Given the description of an element on the screen output the (x, y) to click on. 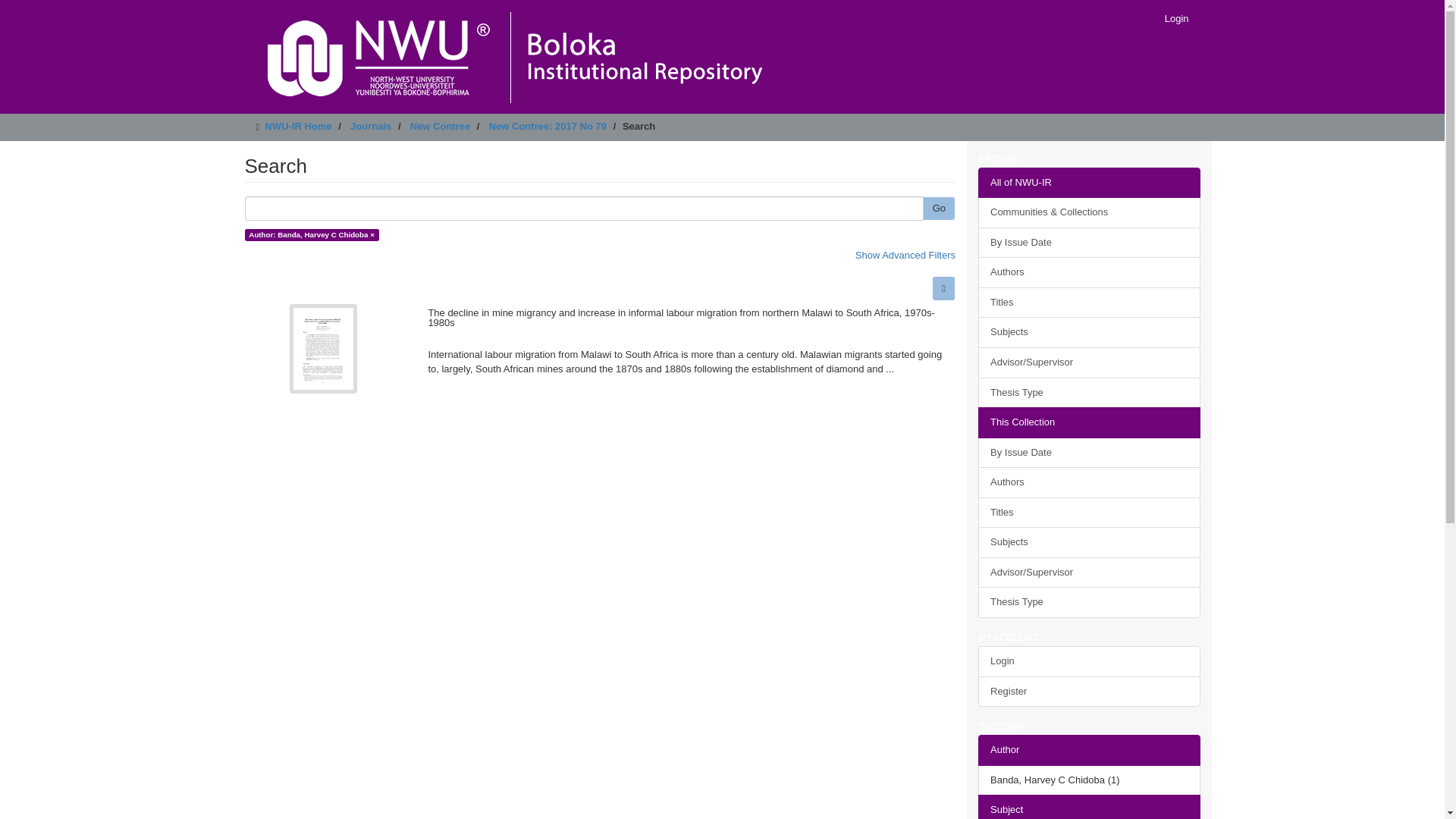
New Contree: 2017 No 79 (548, 125)
NWU-IR Home (297, 125)
Go (939, 208)
Journals (370, 125)
New Contree (440, 125)
Login (1176, 18)
Show Advanced Filters (905, 255)
